Given the description of an element on the screen output the (x, y) to click on. 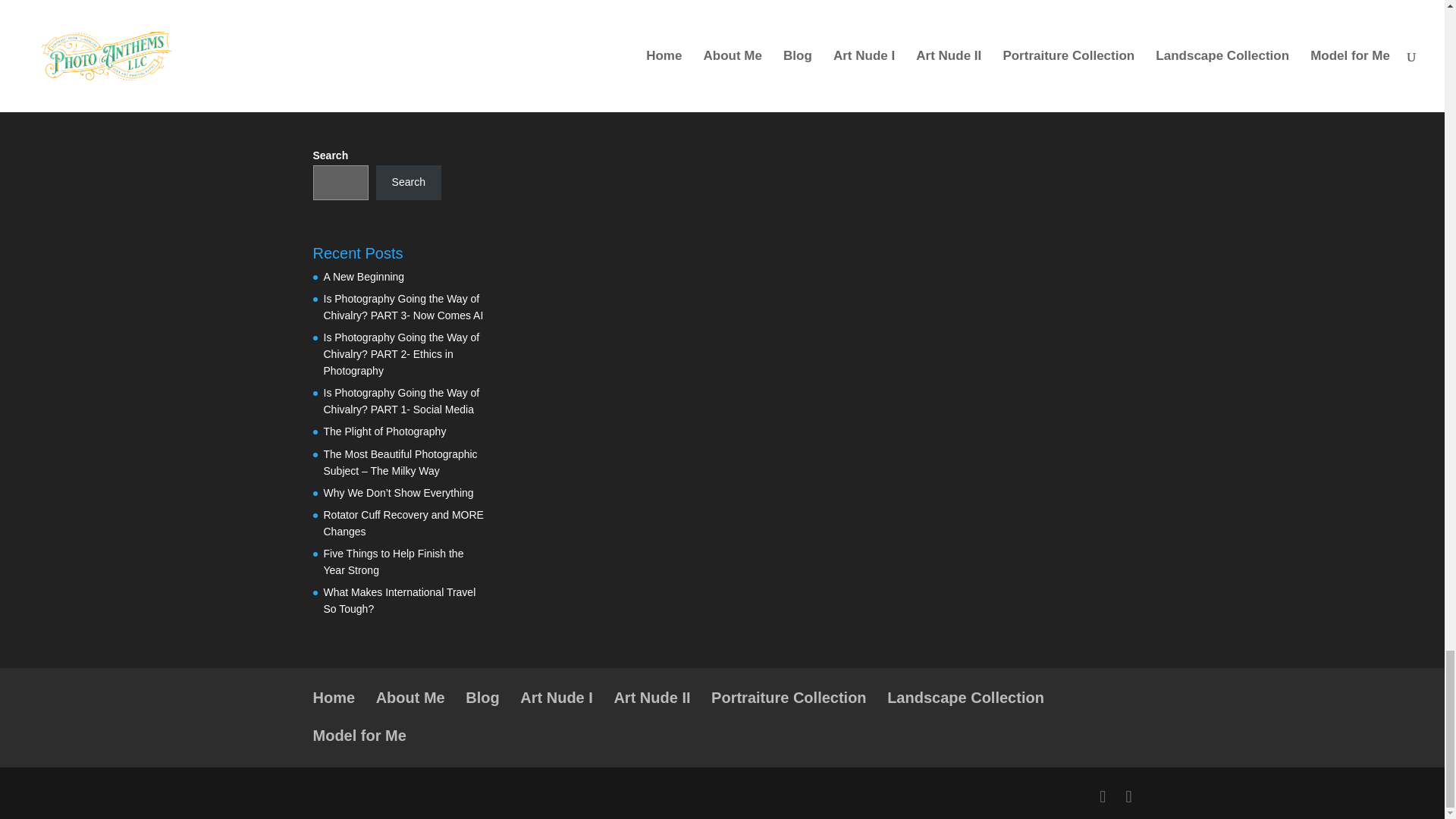
Search (408, 182)
The Plight of Photography (384, 431)
A New Beginning (363, 276)
